Given the description of an element on the screen output the (x, y) to click on. 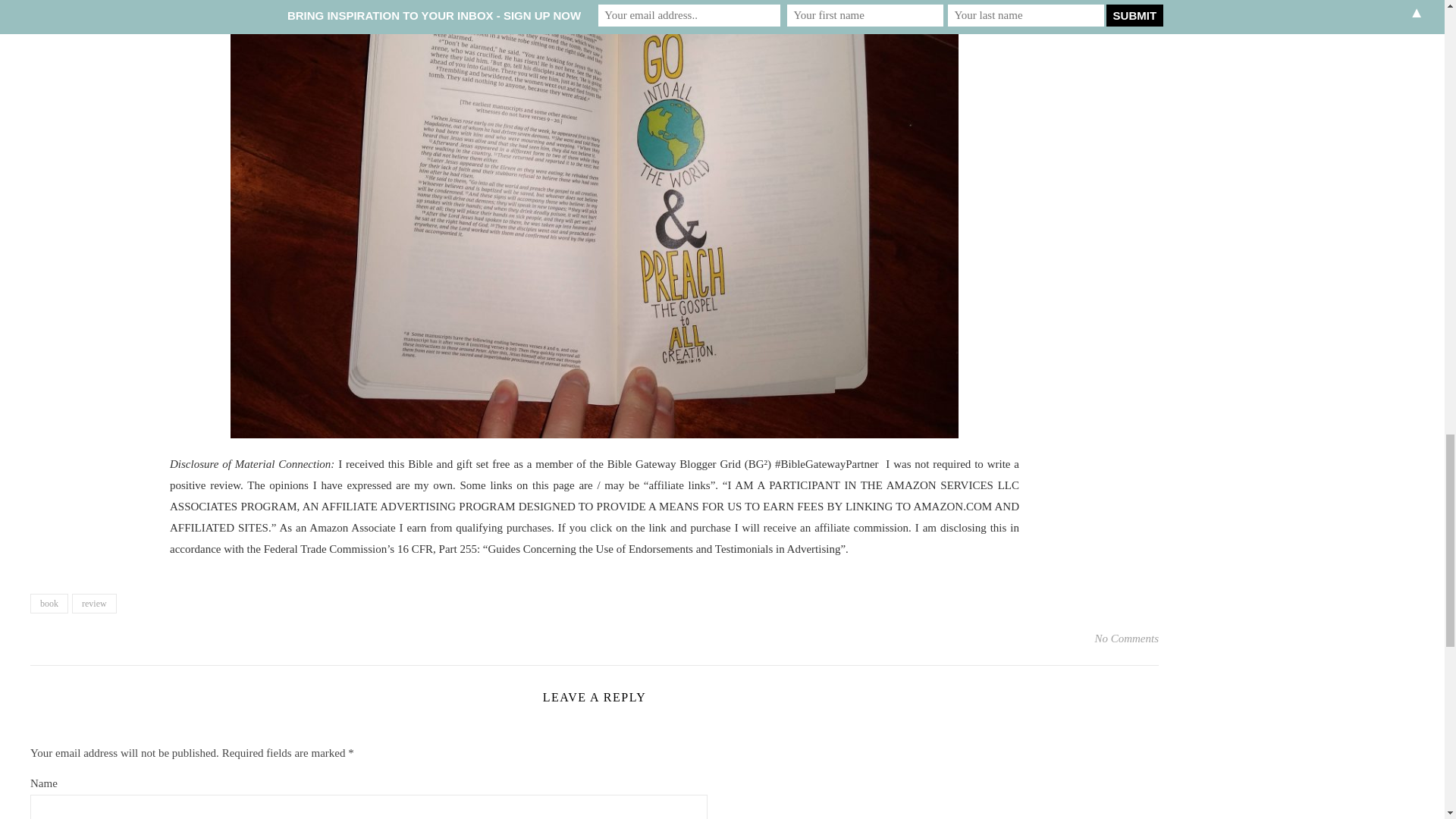
review (93, 603)
book (49, 603)
No Comments (1126, 638)
